Given the description of an element on the screen output the (x, y) to click on. 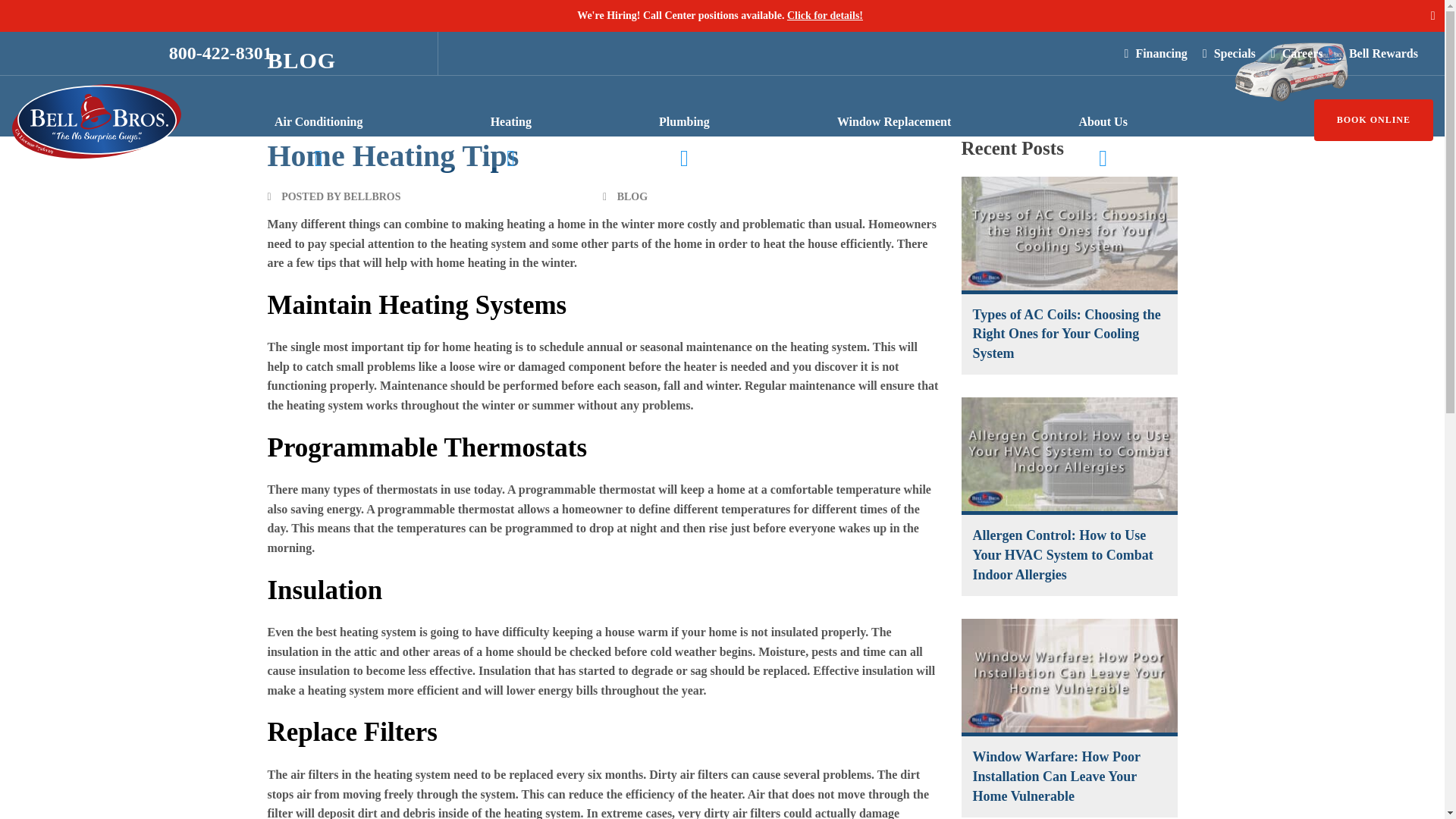
Financing (1156, 53)
800-422-8301 (220, 53)
Click for details! (825, 15)
Air Conditioning (318, 121)
Window Replacement (893, 121)
Bell Rewards (1378, 53)
Specials (1228, 53)
Careers (1297, 53)
